Given the description of an element on the screen output the (x, y) to click on. 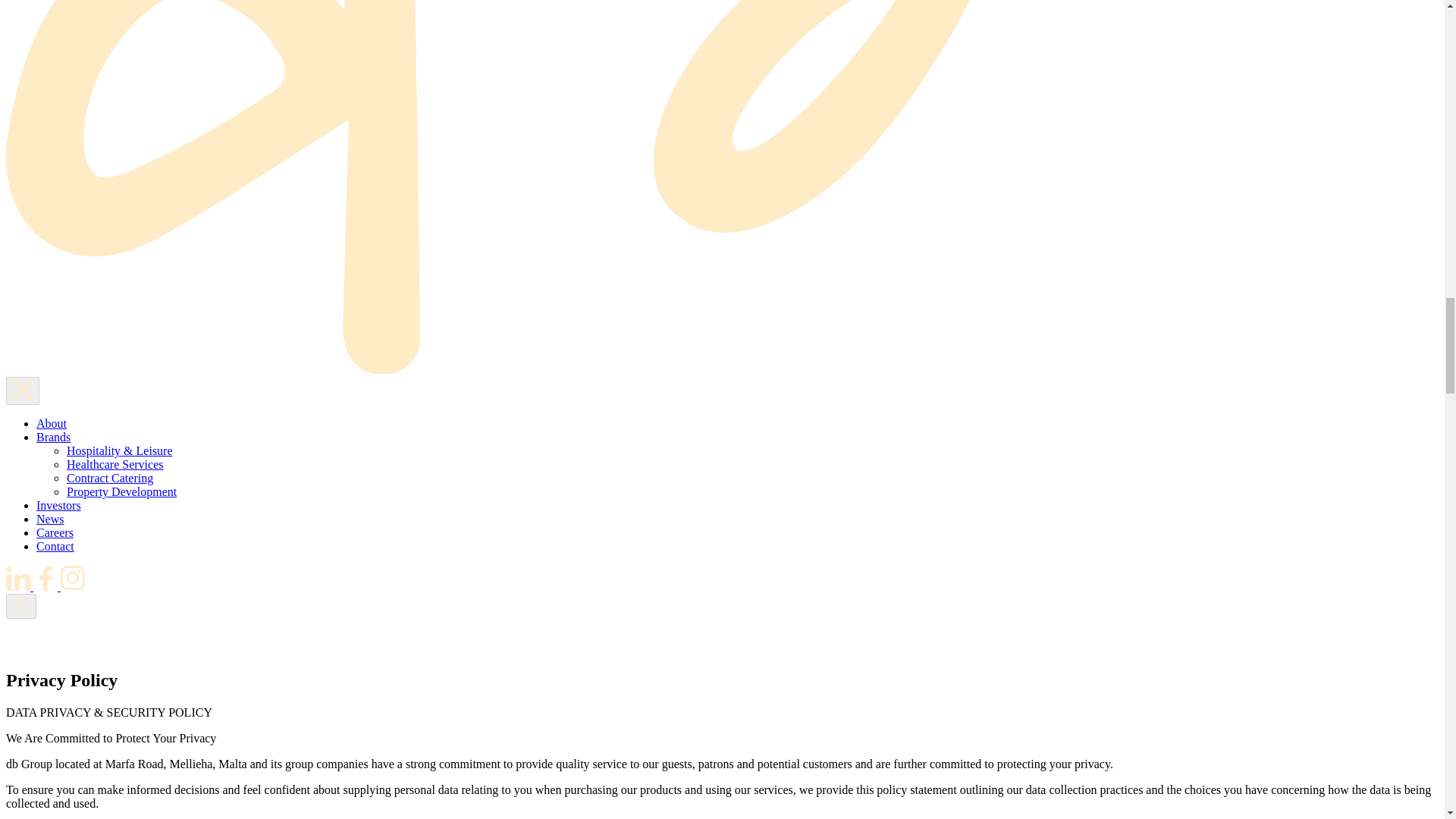
Contact (55, 545)
Instagram (72, 585)
Property Development (121, 491)
Careers (55, 532)
About (51, 422)
LinkedIn (19, 585)
News (50, 518)
Healthcare Services (114, 463)
Investors (58, 504)
Facebook (47, 585)
Contract Catering (109, 477)
Brands (52, 436)
